Given the description of an element on the screen output the (x, y) to click on. 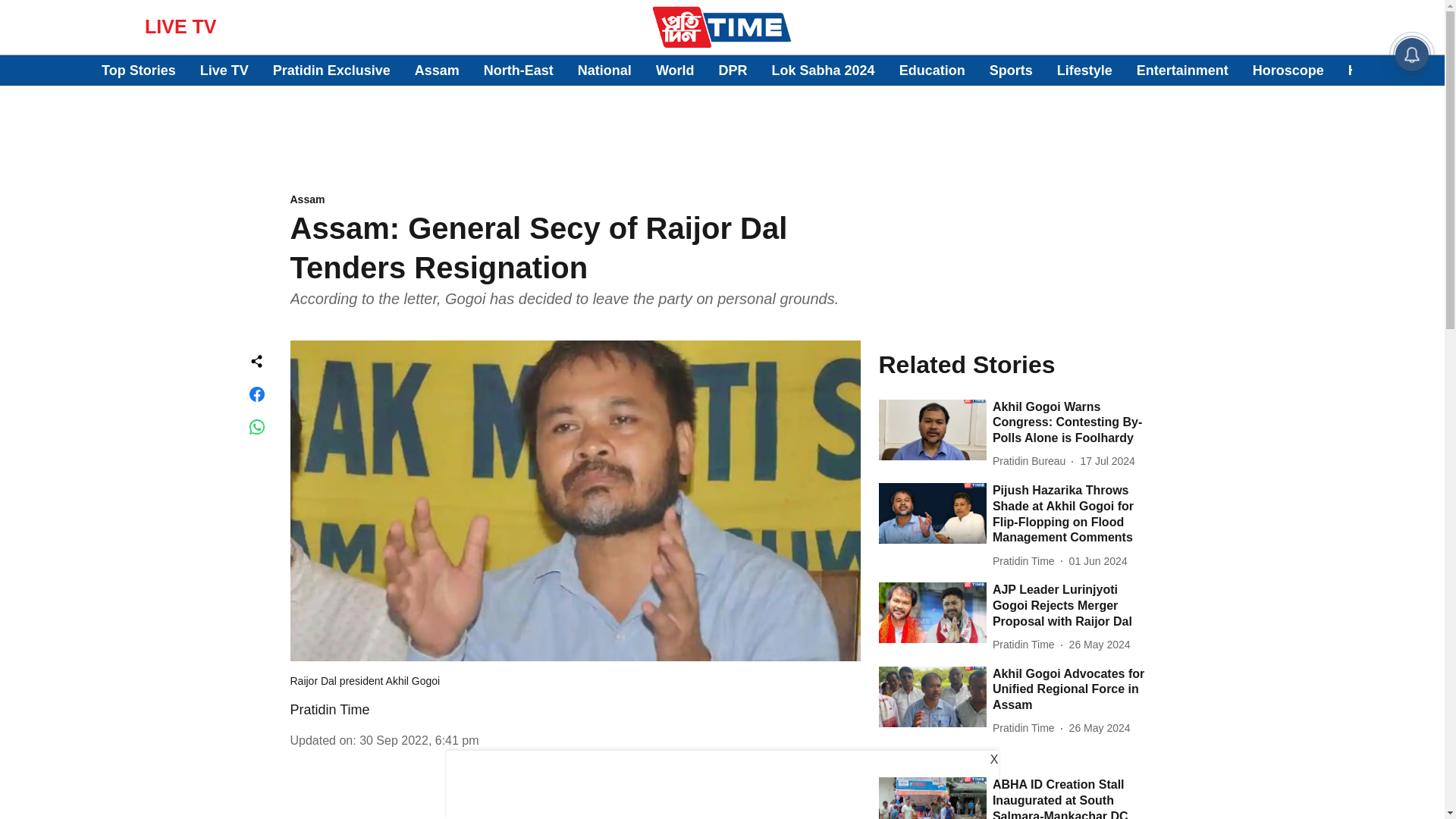
2024-07-17 09:17 (1107, 461)
Education (932, 70)
Entertainment (1182, 70)
Sports (1011, 70)
3rd party ad content (574, 799)
3rd party ad content (721, 125)
2022-09-30 10:41 (419, 739)
LIVE TV (179, 25)
2024-06-01 14:21 (1097, 561)
Top Stories (138, 70)
North-East (518, 70)
National (604, 70)
2024-05-26 04:35 (1099, 728)
DPR (733, 70)
